Given the description of an element on the screen output the (x, y) to click on. 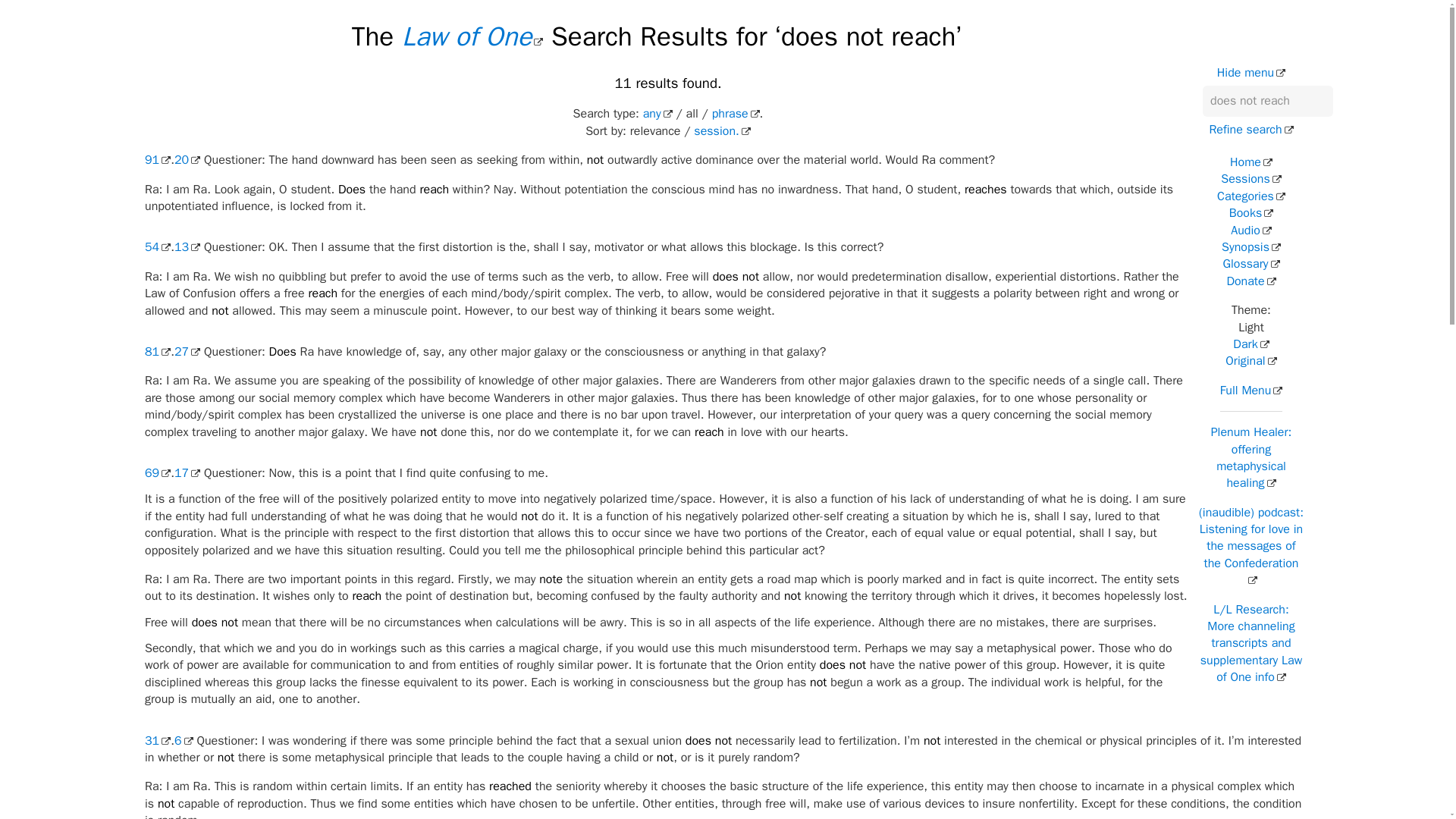
session. (721, 130)
69 (157, 473)
27 (187, 351)
13 (187, 246)
54 (157, 246)
phrase (735, 113)
17 (187, 473)
any (657, 113)
6 (183, 740)
91 (157, 159)
